Given the description of an element on the screen output the (x, y) to click on. 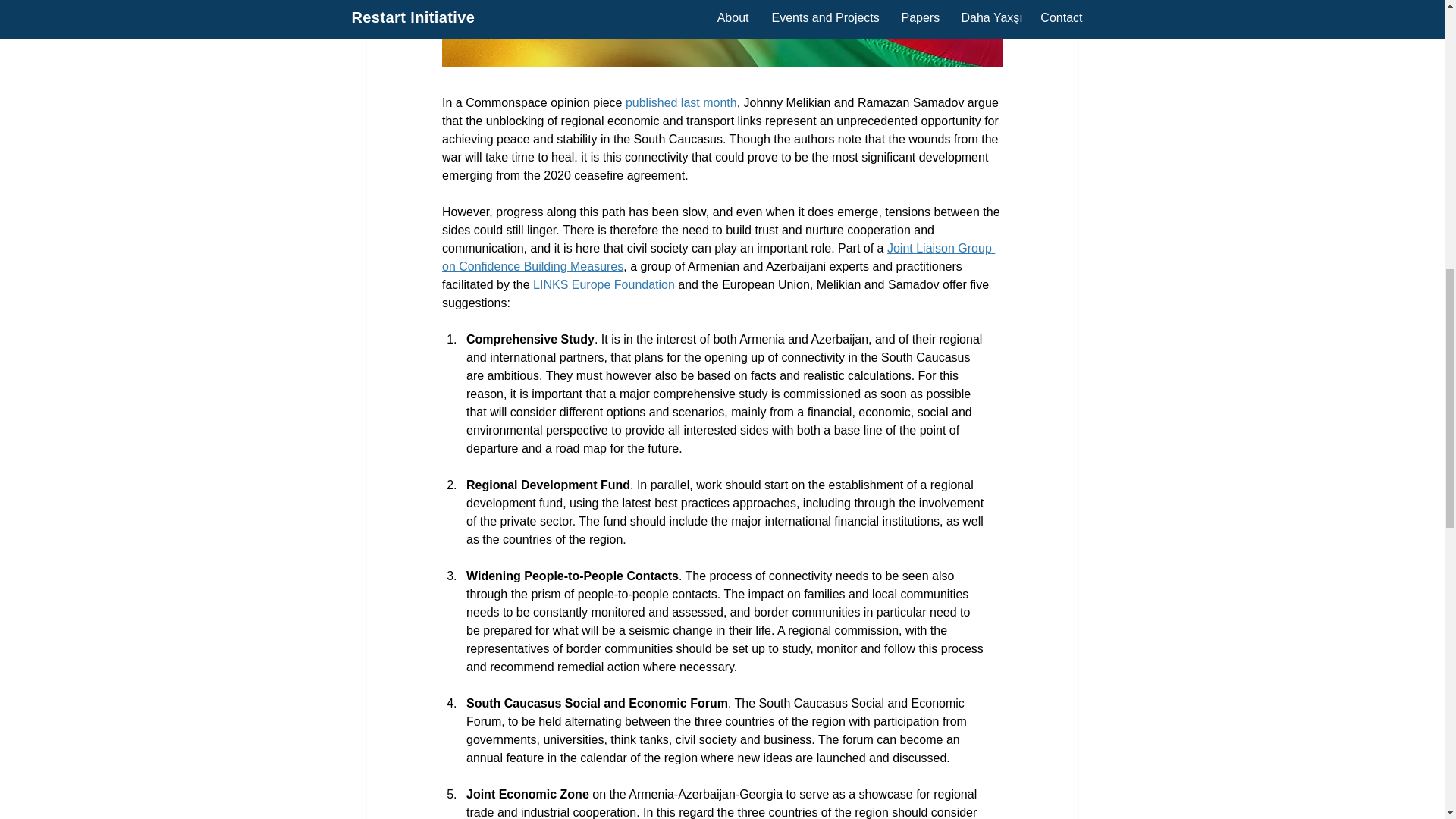
LINKS Europe Foundation (603, 284)
published last month (680, 102)
Joint Liaison Group on Confidence Building Measures (717, 256)
